Given the description of an element on the screen output the (x, y) to click on. 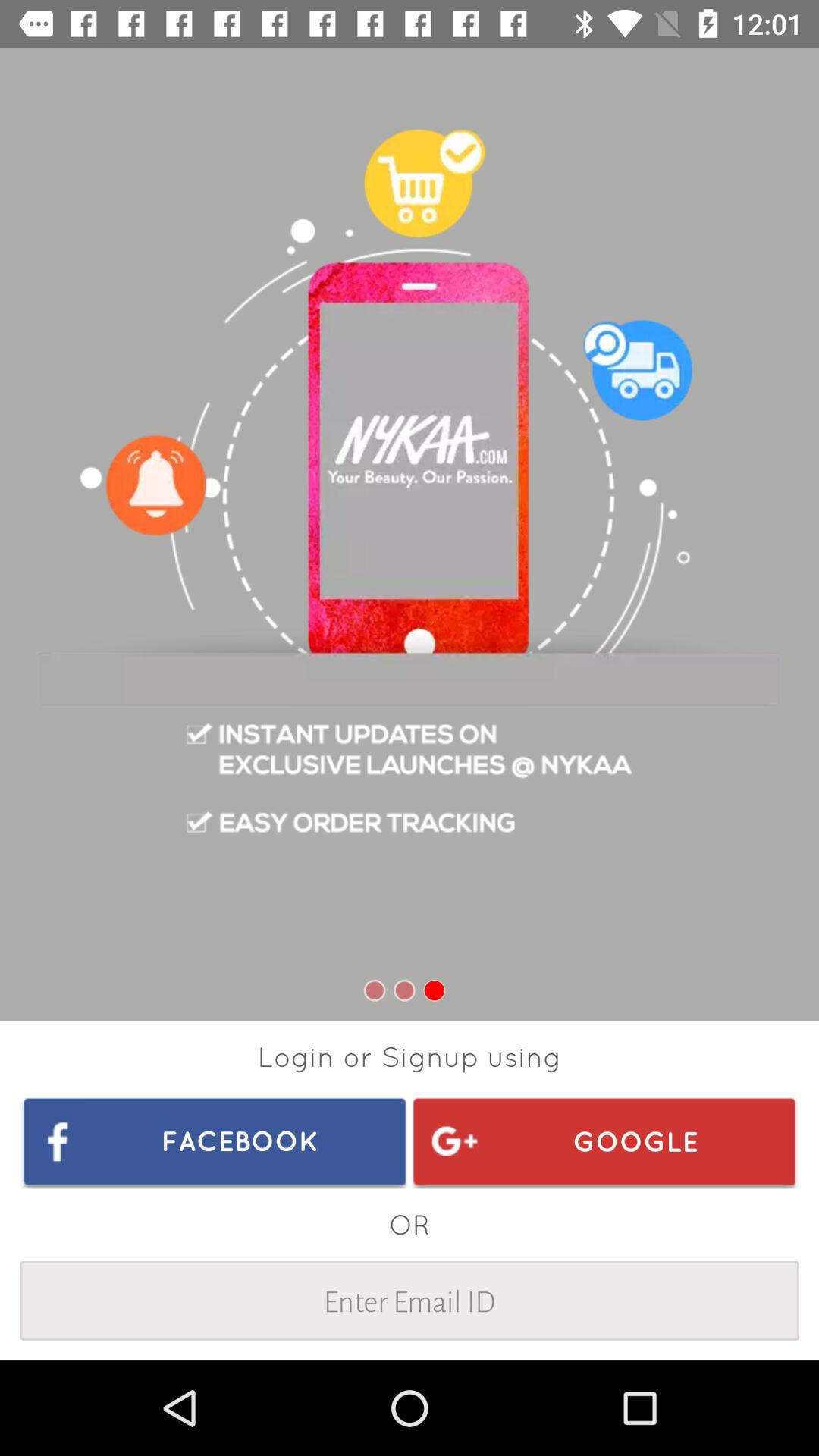
open enter email id icon (409, 1300)
